Given the description of an element on the screen output the (x, y) to click on. 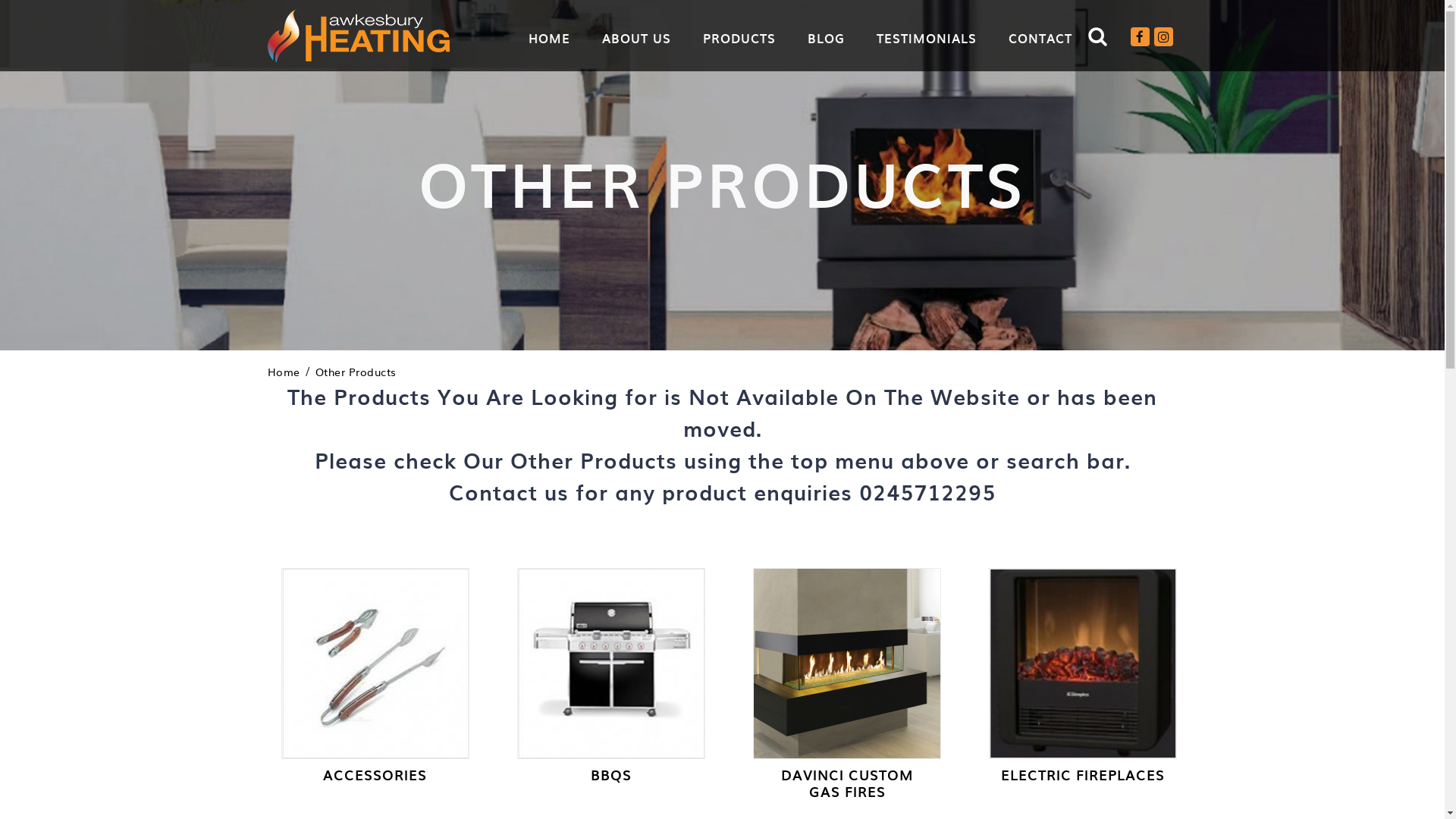
DAVINCI CUSTOM GAS FIRES Element type: text (847, 782)
PRODUCTS Element type: text (738, 37)
ELECTRIC FIREPLACES Element type: text (1082, 774)
ACCESSORIES Element type: text (374, 774)
BLOG Element type: text (825, 37)
Go Element type: text (1089, 80)
ABOUT US Element type: text (636, 37)
BBQS Element type: text (610, 774)
Home Element type: text (282, 371)
TESTIMONIALS Element type: text (926, 37)
HOME Element type: text (548, 37)
CONTACT Element type: text (1040, 37)
